Given the description of an element on the screen output the (x, y) to click on. 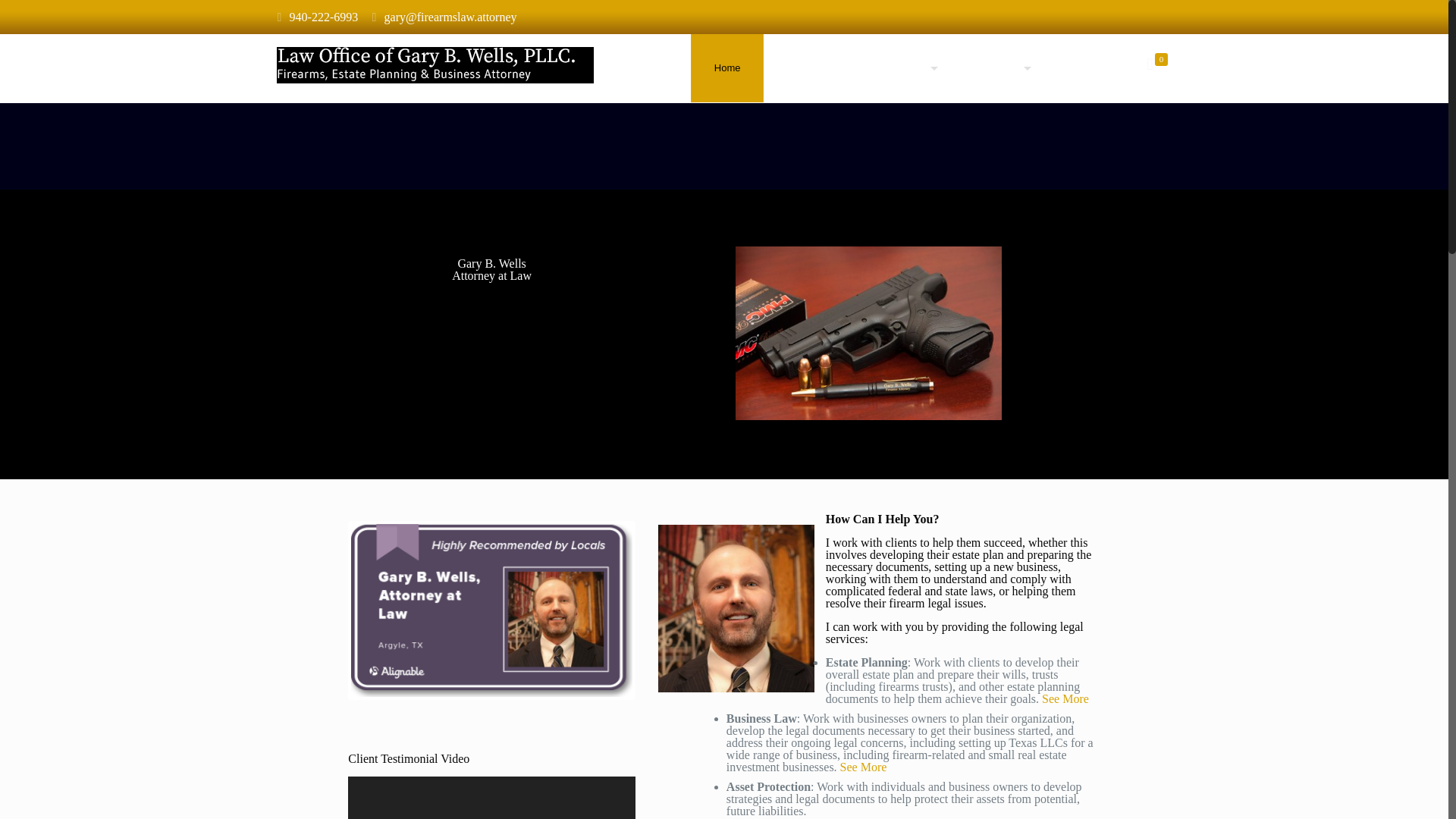
Alignable-highly recommended by locals- revised (490, 610)
Practice Areas (889, 68)
About (798, 68)
0 (1152, 64)
Home (727, 68)
See More (1065, 698)
See More (863, 766)
940-222-6993 (323, 16)
Resources (991, 68)
Contact (1078, 68)
Law Office of Gary B. Wells, PLLC (435, 64)
